Given the description of an element on the screen output the (x, y) to click on. 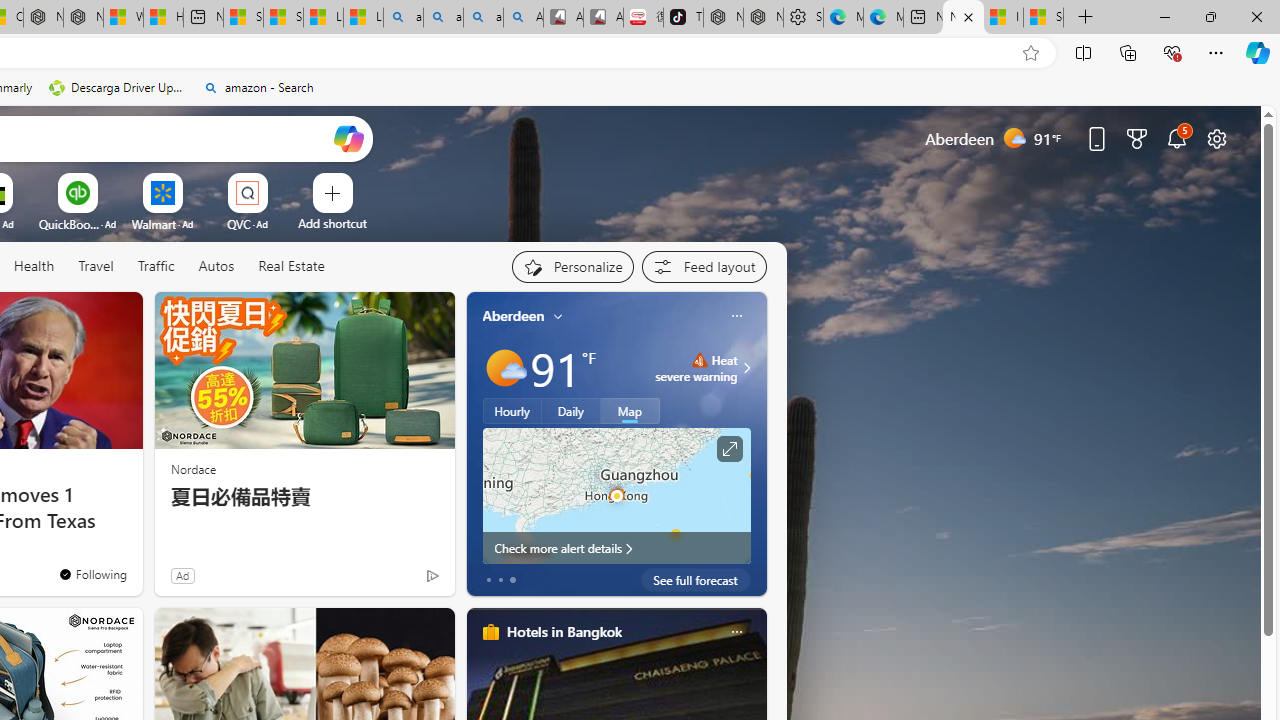
Heat - Severe Heat severe warning (696, 367)
tab-2 (511, 579)
Daily (571, 411)
Aberdeen (513, 315)
You're following The Weather Channel (390, 579)
Map (630, 411)
Health (34, 265)
Hide this story (82, 315)
